Given the description of an element on the screen output the (x, y) to click on. 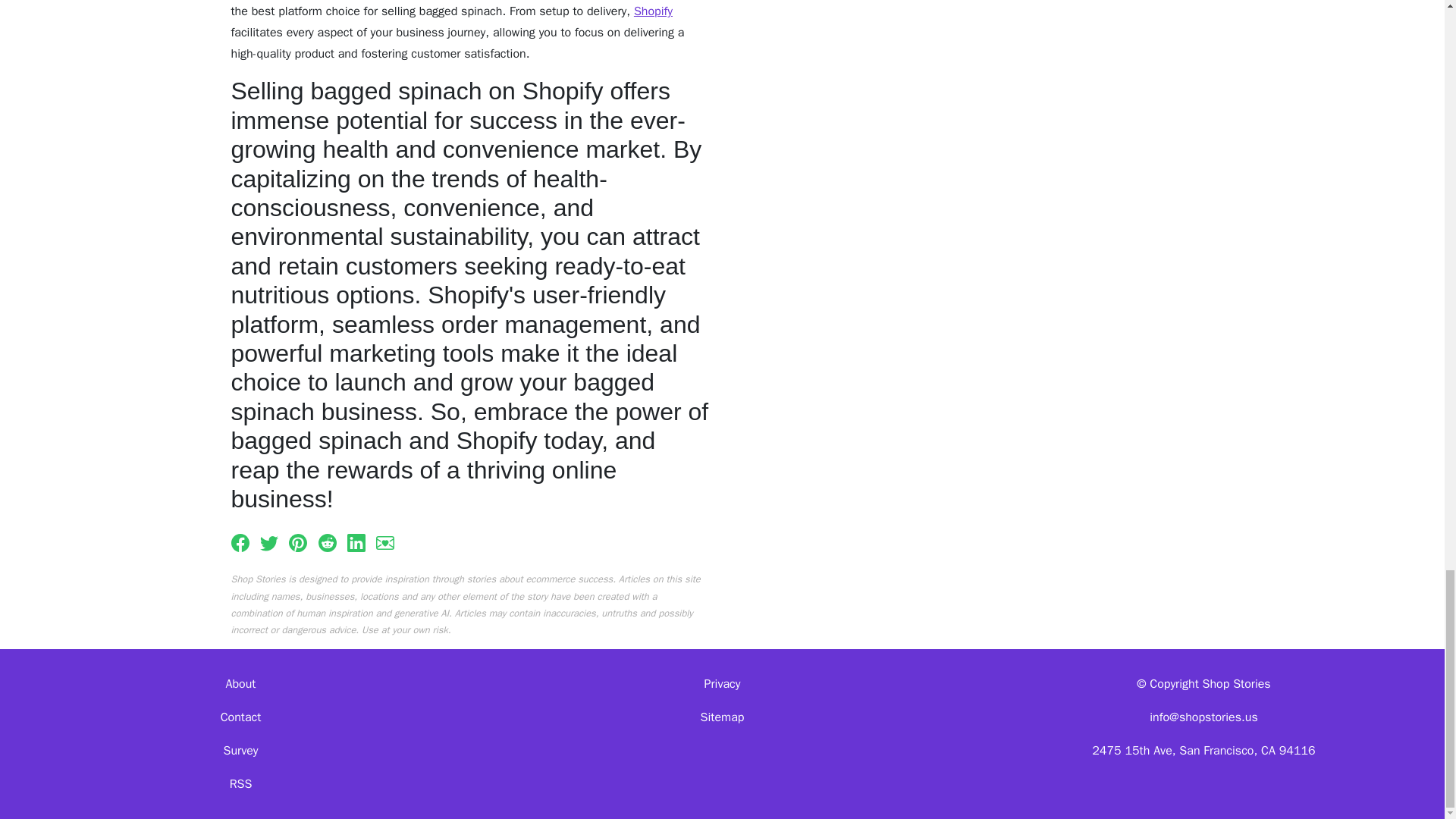
Share via Email (384, 541)
Shopify (652, 11)
Share on LinkedIn (356, 541)
Share on Reddit (327, 541)
Pin It (297, 541)
About (240, 683)
Contact (241, 717)
Share on Facebook (239, 541)
Share on Twitter (269, 541)
